Given the description of an element on the screen output the (x, y) to click on. 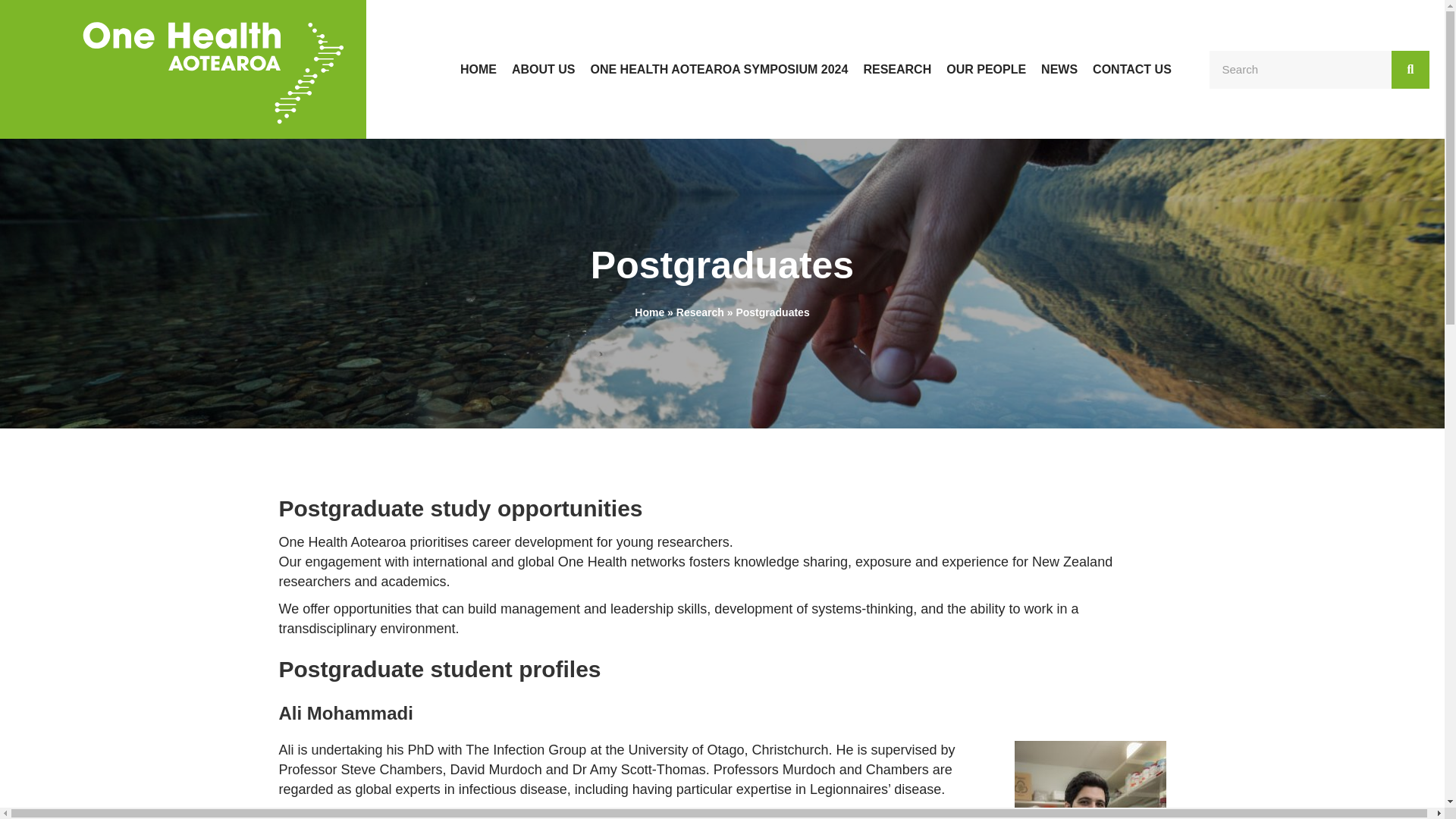
Home (648, 312)
CONTACT US (1131, 69)
OUR PEOPLE (986, 69)
ONE HEALTH AOTEAROA SYMPOSIUM 2024 (719, 69)
Research (700, 312)
RESEARCH (897, 69)
HOME (477, 69)
NEWS (1058, 69)
Search (1300, 69)
ABOUT US (543, 69)
